Given the description of an element on the screen output the (x, y) to click on. 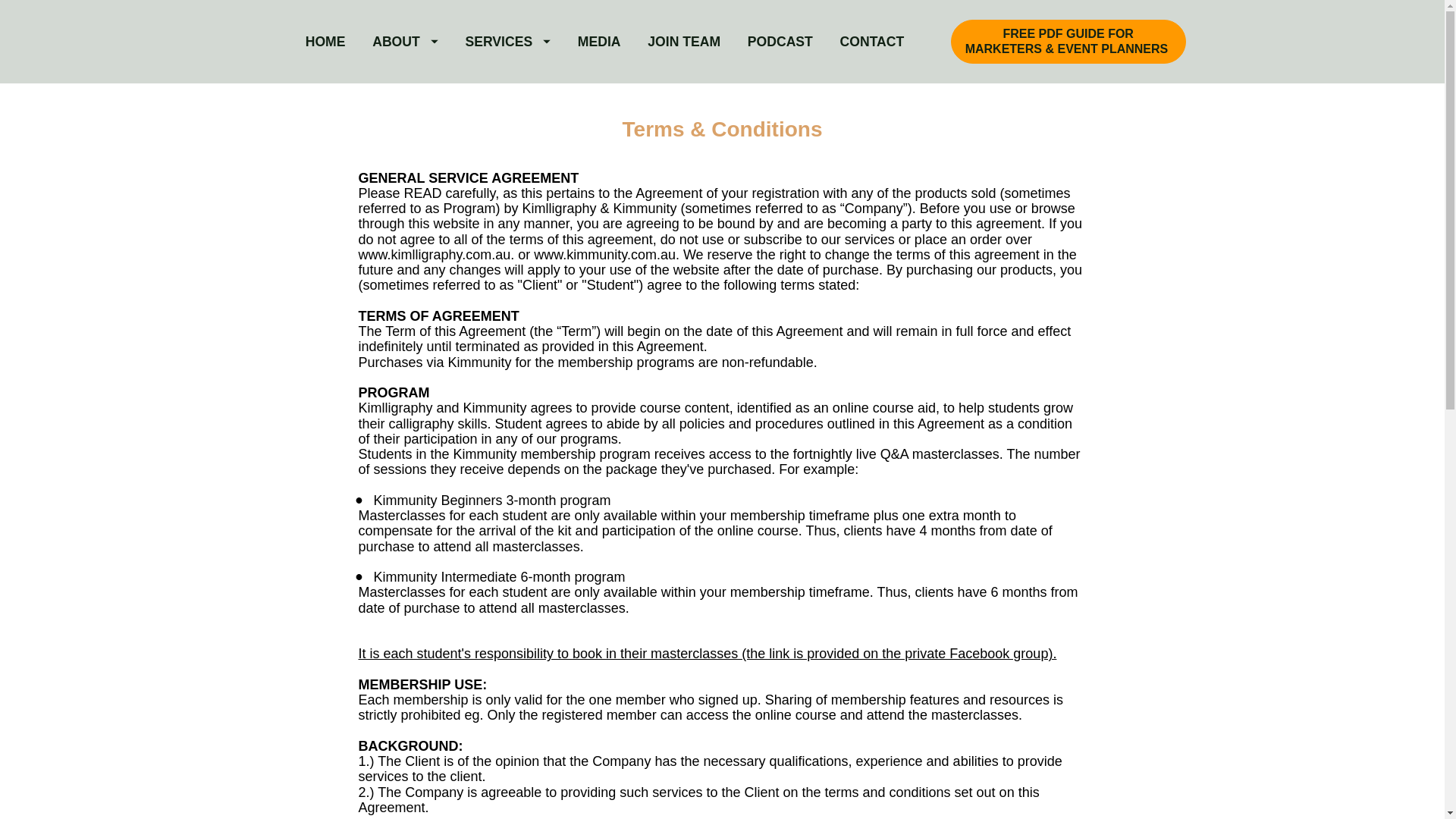
ABOUT (405, 41)
SERVICES (507, 41)
MEDIA (599, 41)
JOIN TEAM (683, 41)
HOME (325, 41)
CONTACT (872, 41)
PODCAST (780, 41)
